Given the description of an element on the screen output the (x, y) to click on. 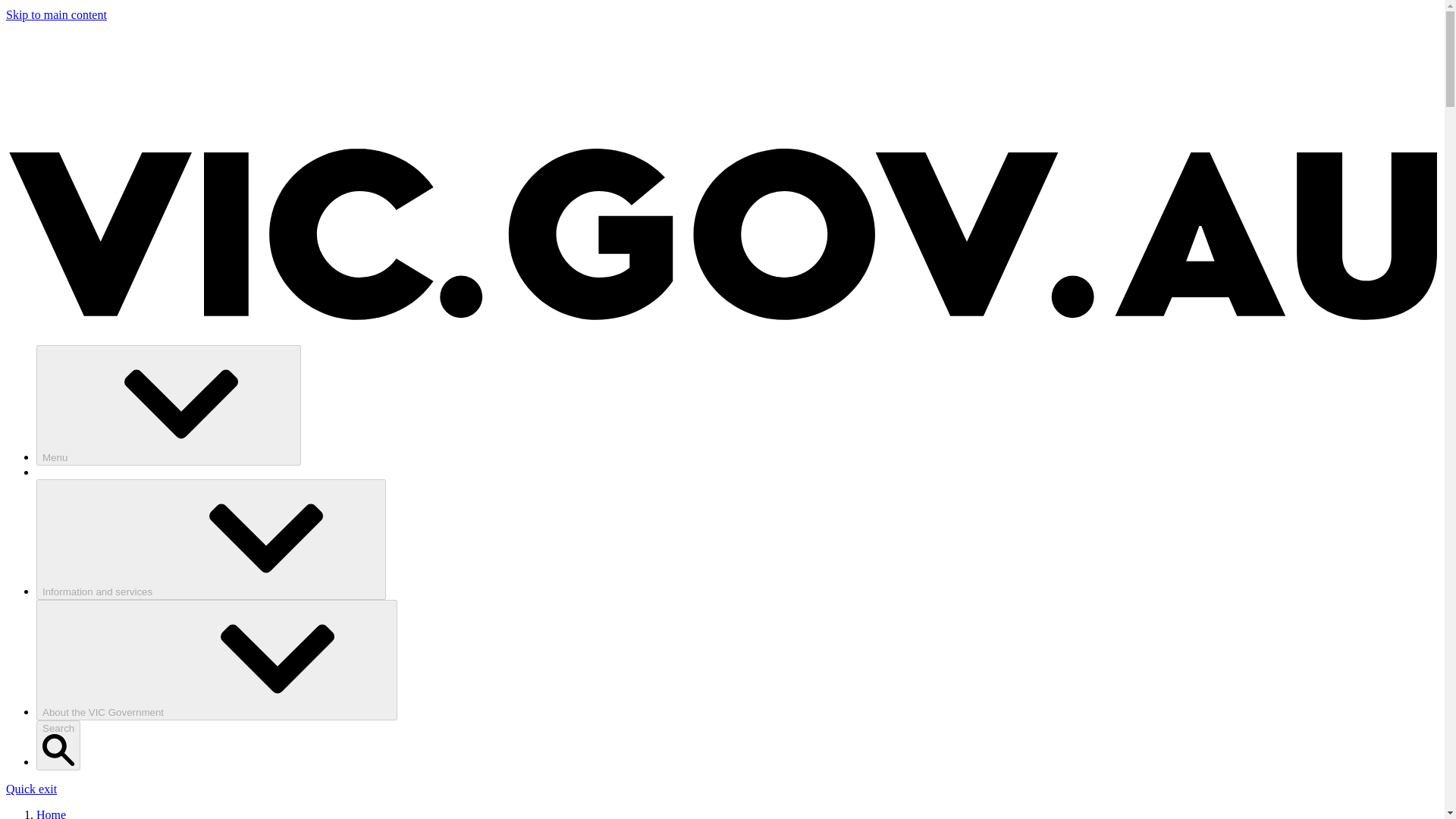
Quick exit (30, 788)
Home (50, 813)
Skip to main content (55, 14)
